Given the description of an element on the screen output the (x, y) to click on. 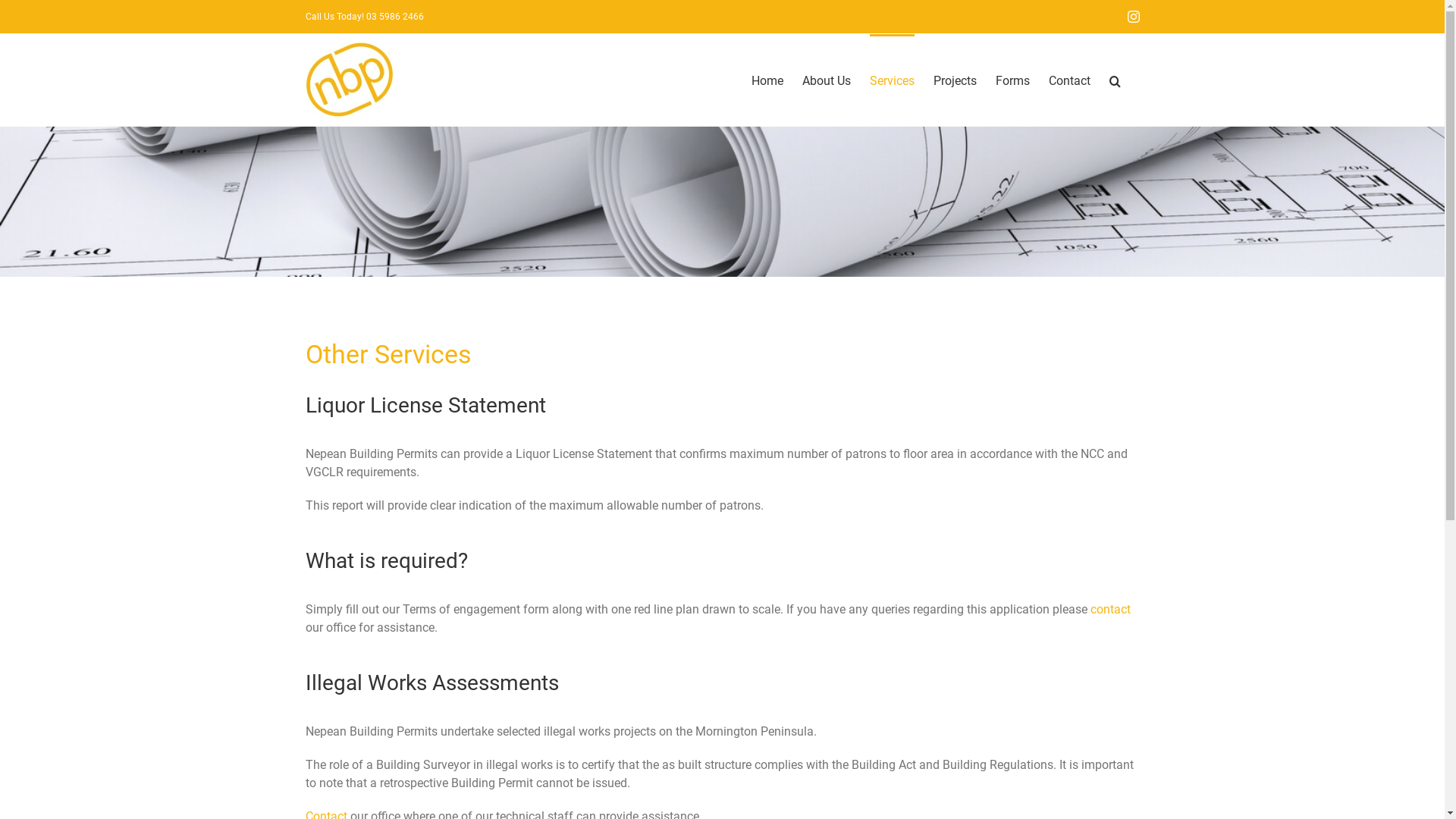
Search Element type: hover (1114, 79)
Projects Element type: text (953, 79)
Services Element type: text (891, 79)
Forms Element type: text (1011, 79)
Home Element type: text (766, 79)
About Us Element type: text (826, 79)
contact Element type: text (1110, 609)
Instagram Element type: text (1132, 16)
Contact Element type: text (1068, 79)
